Given the description of an element on the screen output the (x, y) to click on. 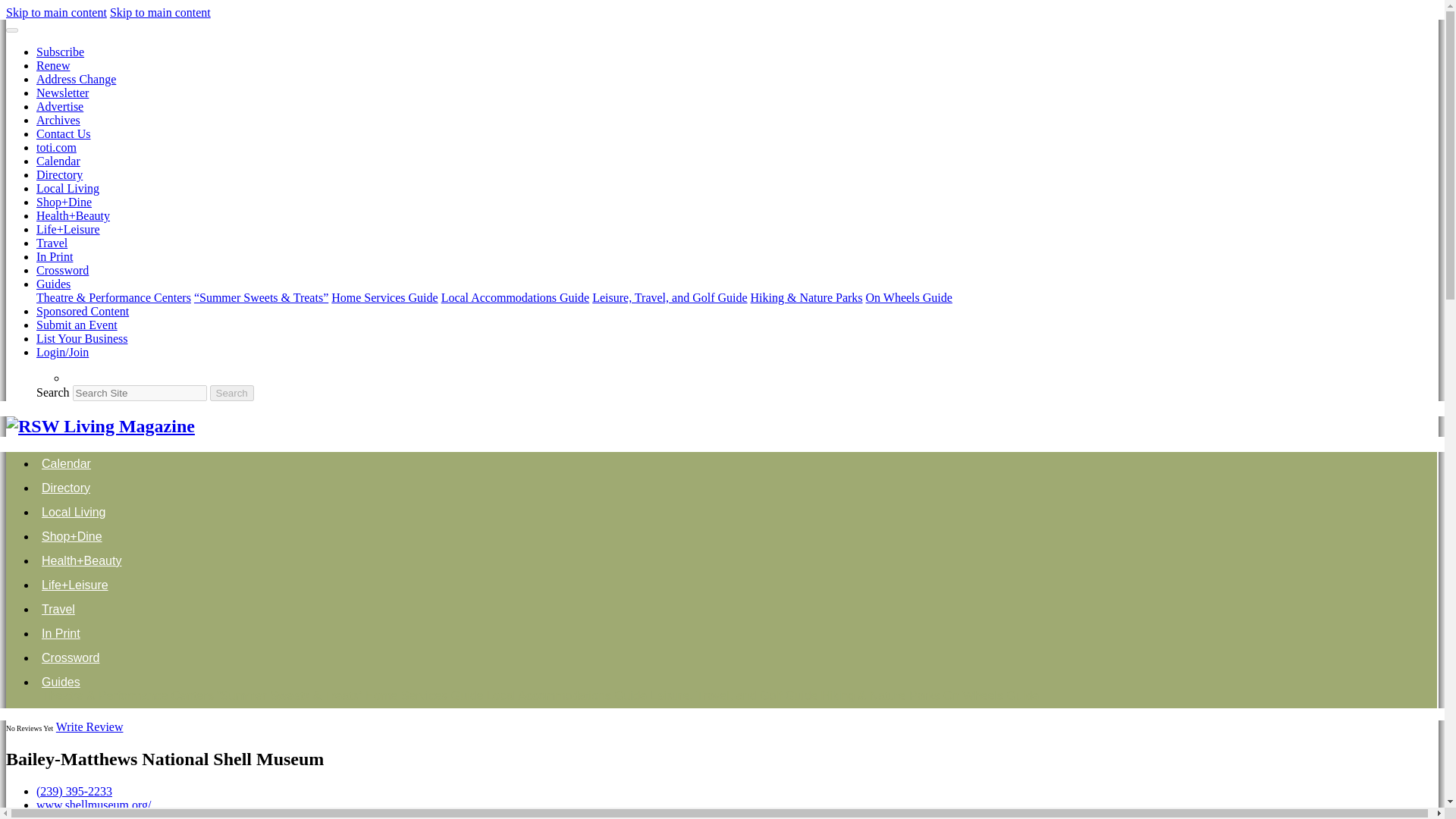
Local Living (74, 512)
Skip to main content (160, 11)
Local Accommodations Guide (515, 297)
Archives (58, 119)
Sponsored Content (82, 310)
Directory (66, 487)
Crossword (62, 269)
Advertise (59, 106)
Submit an Event (76, 324)
Subscribe (60, 51)
